Given the description of an element on the screen output the (x, y) to click on. 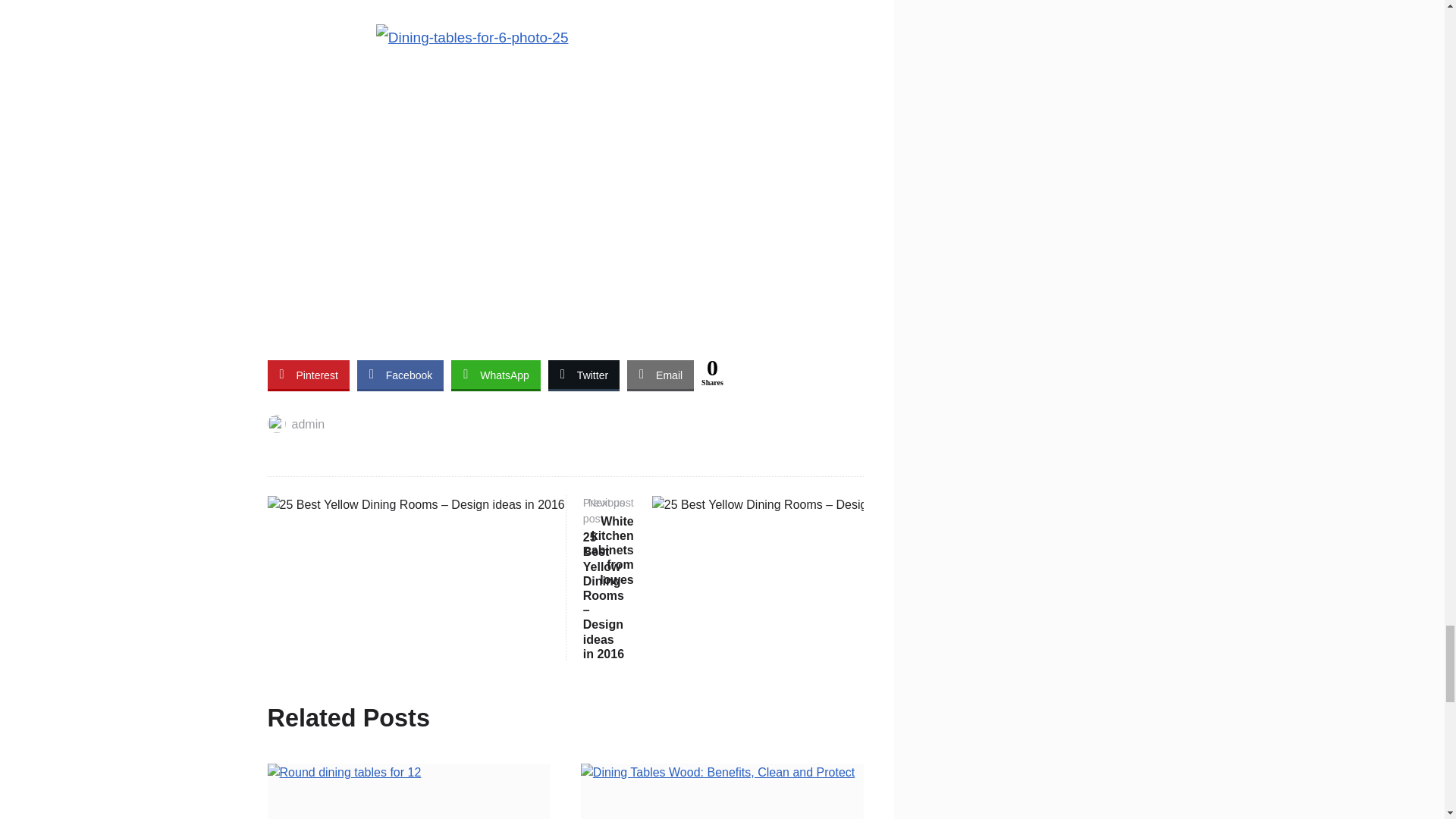
See also  Round dining tables for 12 (565, 337)
